Given the description of an element on the screen output the (x, y) to click on. 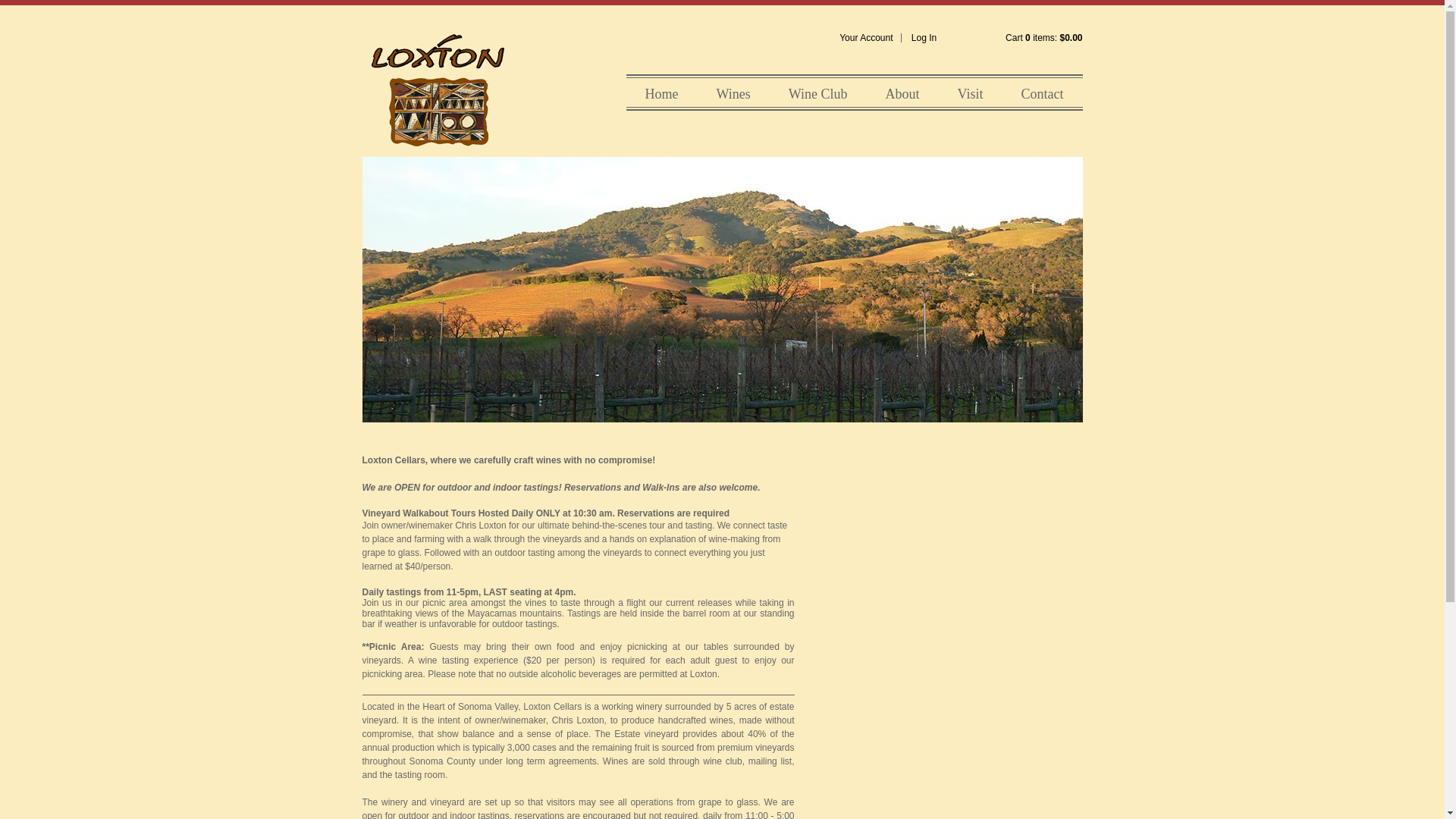
Home (661, 93)
Log In (923, 37)
About (902, 93)
Your Account (866, 37)
Wines (733, 93)
Wine Club (818, 93)
Contact (1041, 93)
